Given the description of an element on the screen output the (x, y) to click on. 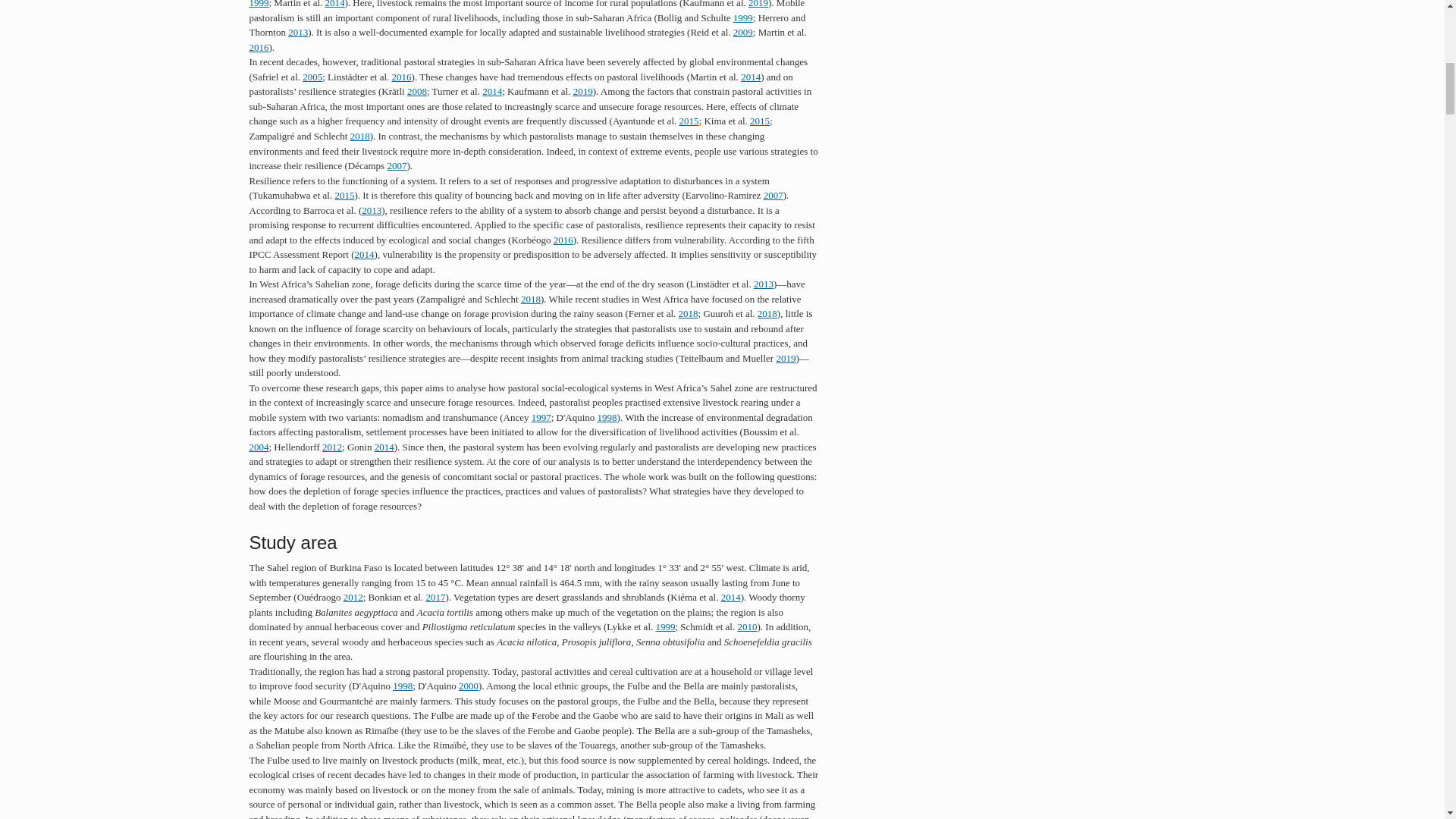
2019 (758, 4)
1999 (257, 4)
2013 (297, 31)
2014 (334, 4)
1999 (742, 17)
